Given the description of an element on the screen output the (x, y) to click on. 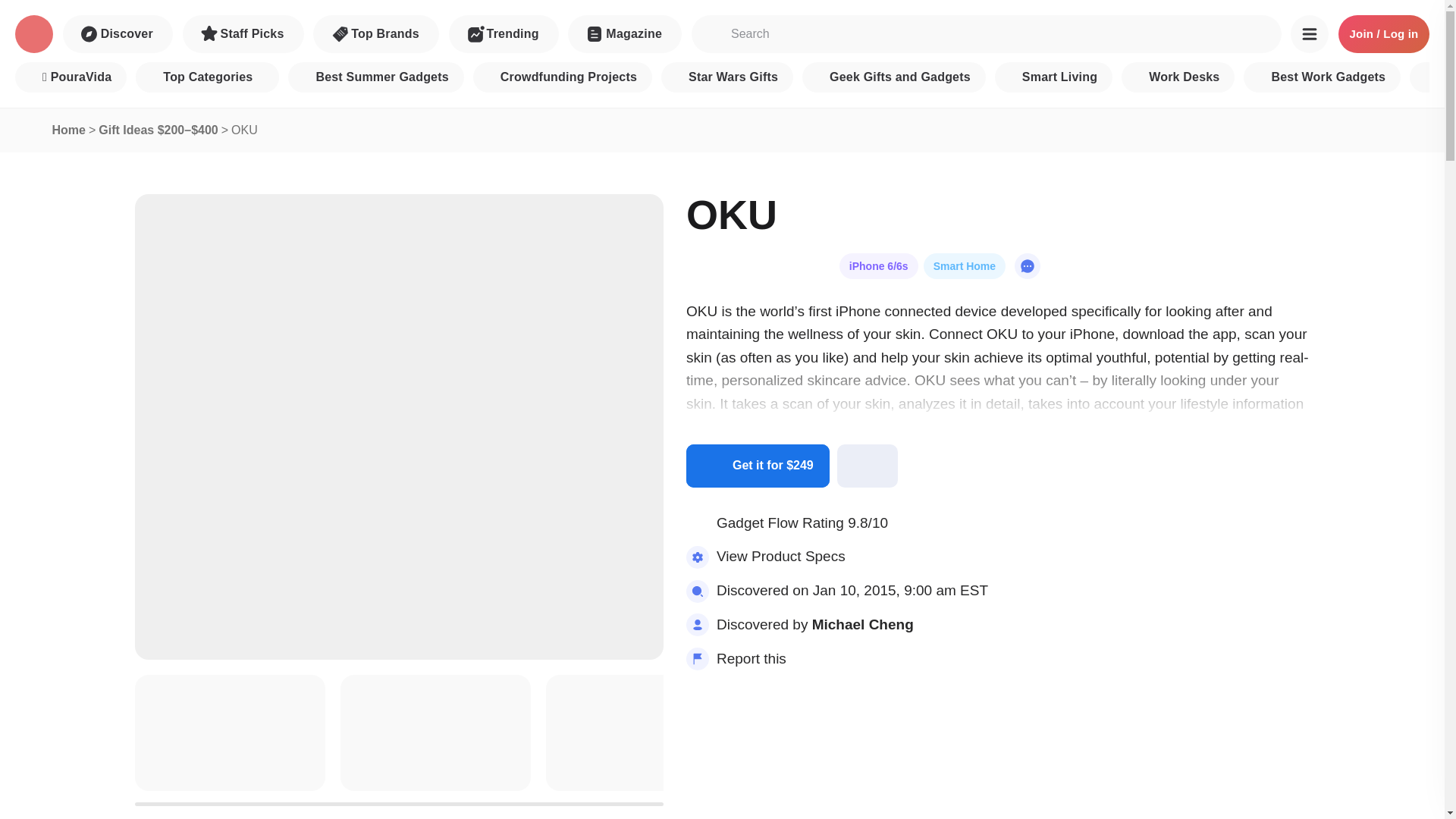
Discover (117, 34)
Crowdfunding Projects (562, 77)
Work Desks (1177, 77)
Staff Picks (243, 34)
Best Summer Gadgets (375, 77)
Smart Living (1053, 77)
Magazine (624, 34)
Star Wars Gifts (727, 77)
Top Brands (376, 34)
Gadget Flow (33, 34)
